Given the description of an element on the screen output the (x, y) to click on. 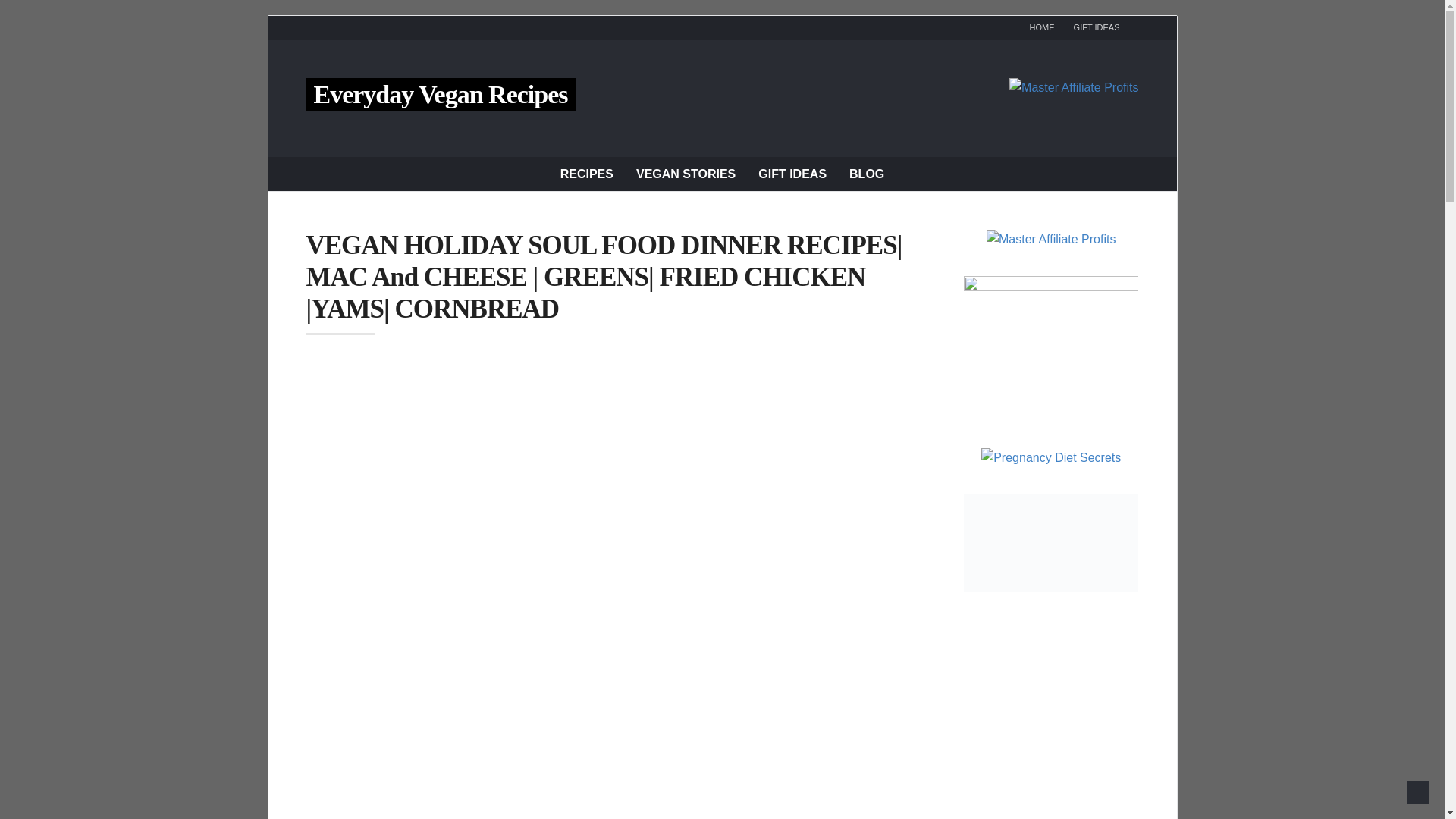
King of Presentations (1050, 286)
BLOG (865, 173)
GIFT IDEAS (792, 173)
VEGAN STORIES (685, 173)
Pregnancy Diet Secrets (1051, 457)
Everyday Vegan Recipes (440, 94)
HOME (1041, 27)
GIFT IDEAS (1096, 27)
RECIPES (586, 173)
Master Affiliate Profits (1073, 86)
